Given the description of an element on the screen output the (x, y) to click on. 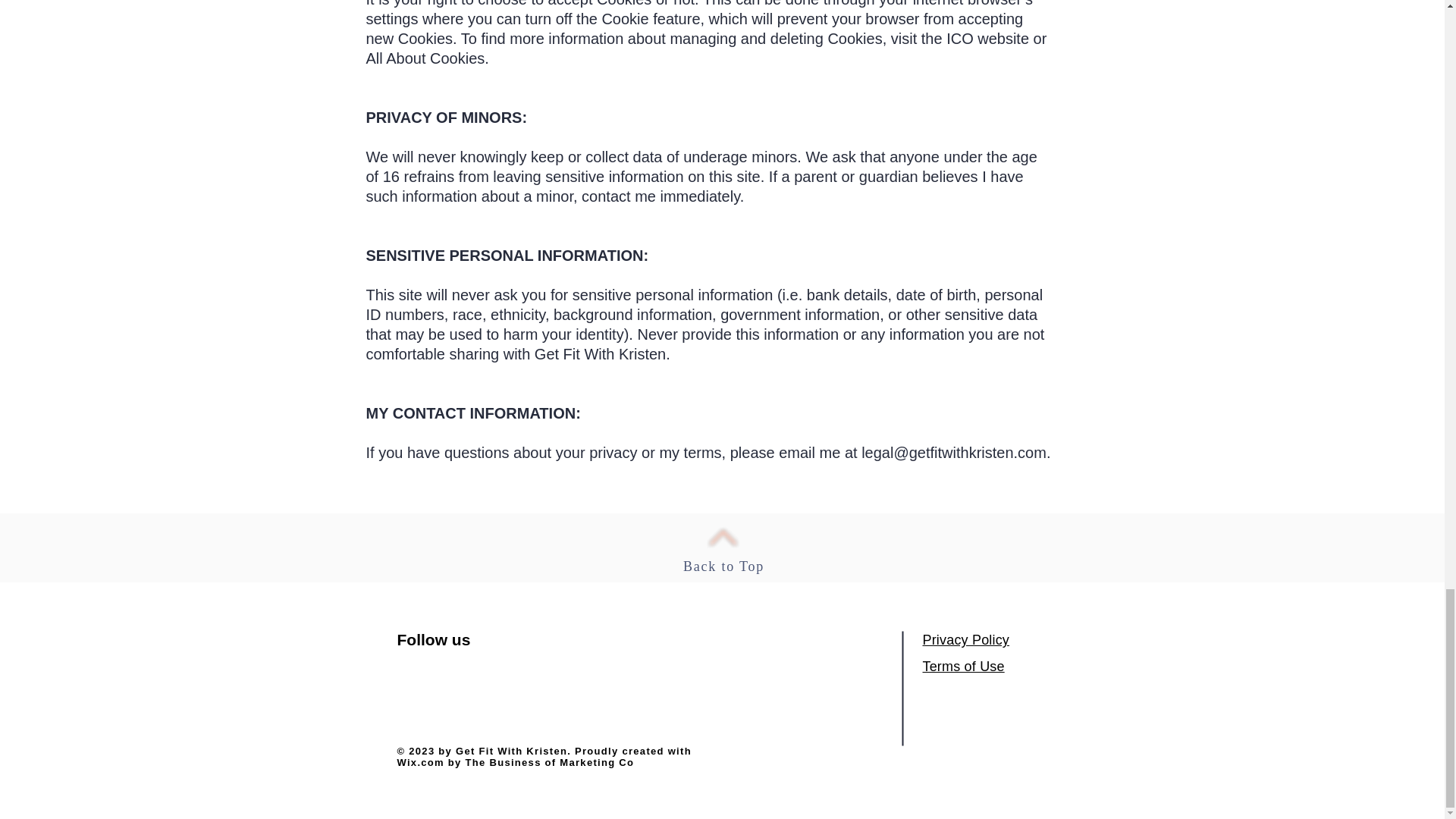
Terms of Use (962, 666)
Back to Top (723, 566)
Wix.com by The Business of Marketing Co (515, 762)
Privacy Policy (965, 639)
